Given the description of an element on the screen output the (x, y) to click on. 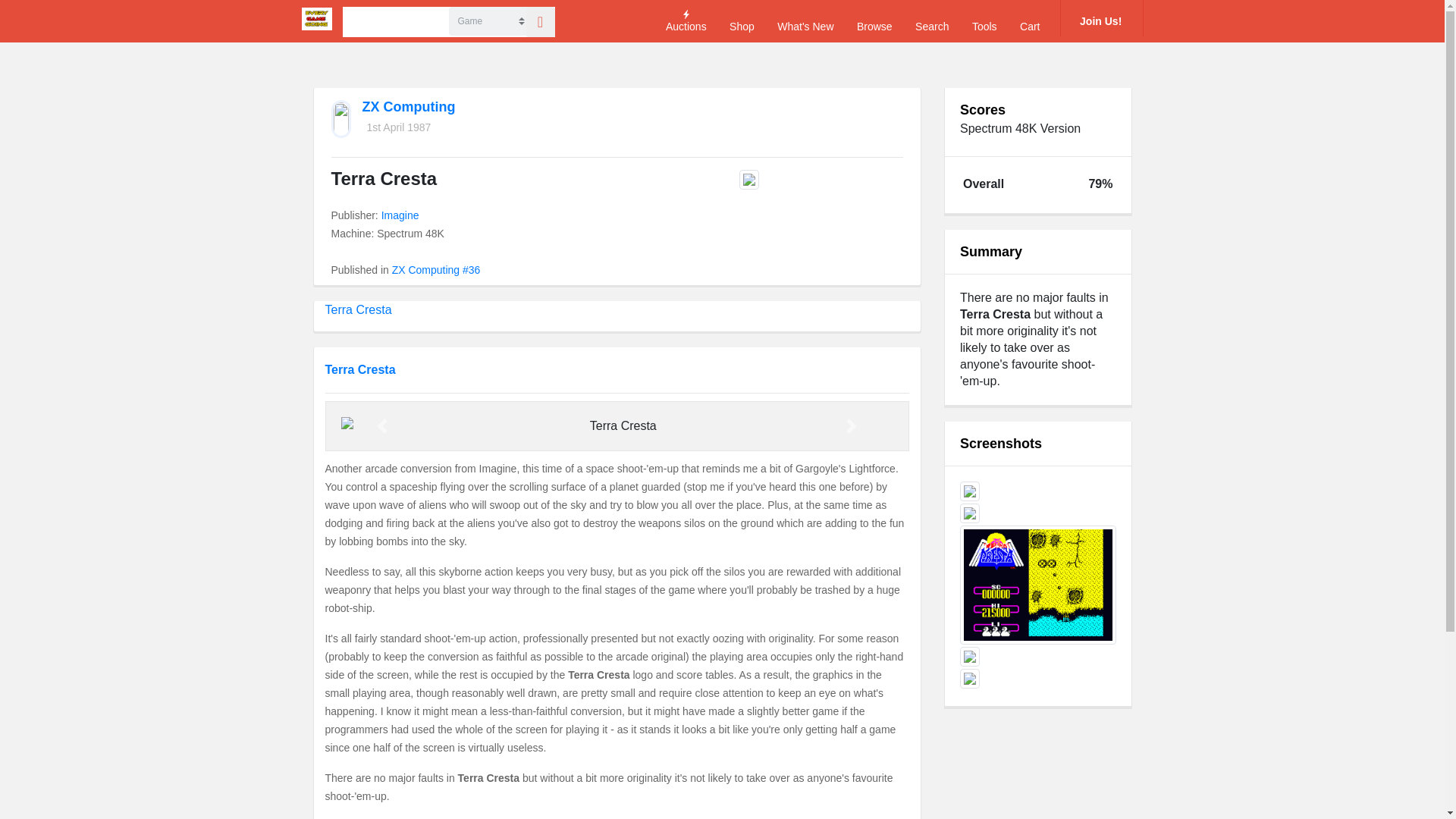
What's New (804, 20)
Shop (741, 20)
Browse (874, 20)
Tools (984, 20)
Auctions (685, 20)
Search (932, 20)
